Given the description of an element on the screen output the (x, y) to click on. 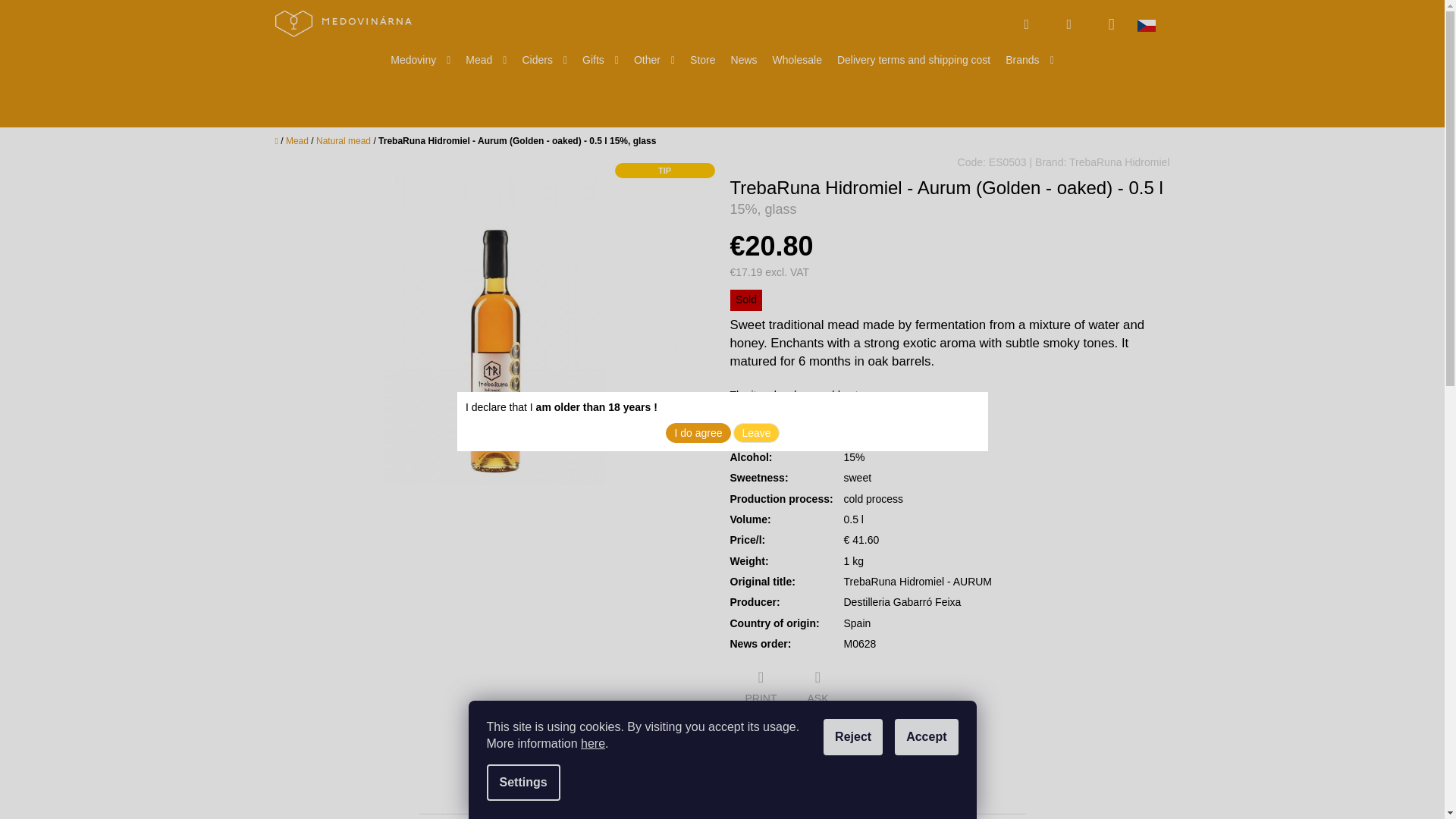
Speak to a sales advisor (817, 687)
Medoviny (420, 59)
Print product (760, 687)
Mead (485, 59)
